Given the description of an element on the screen output the (x, y) to click on. 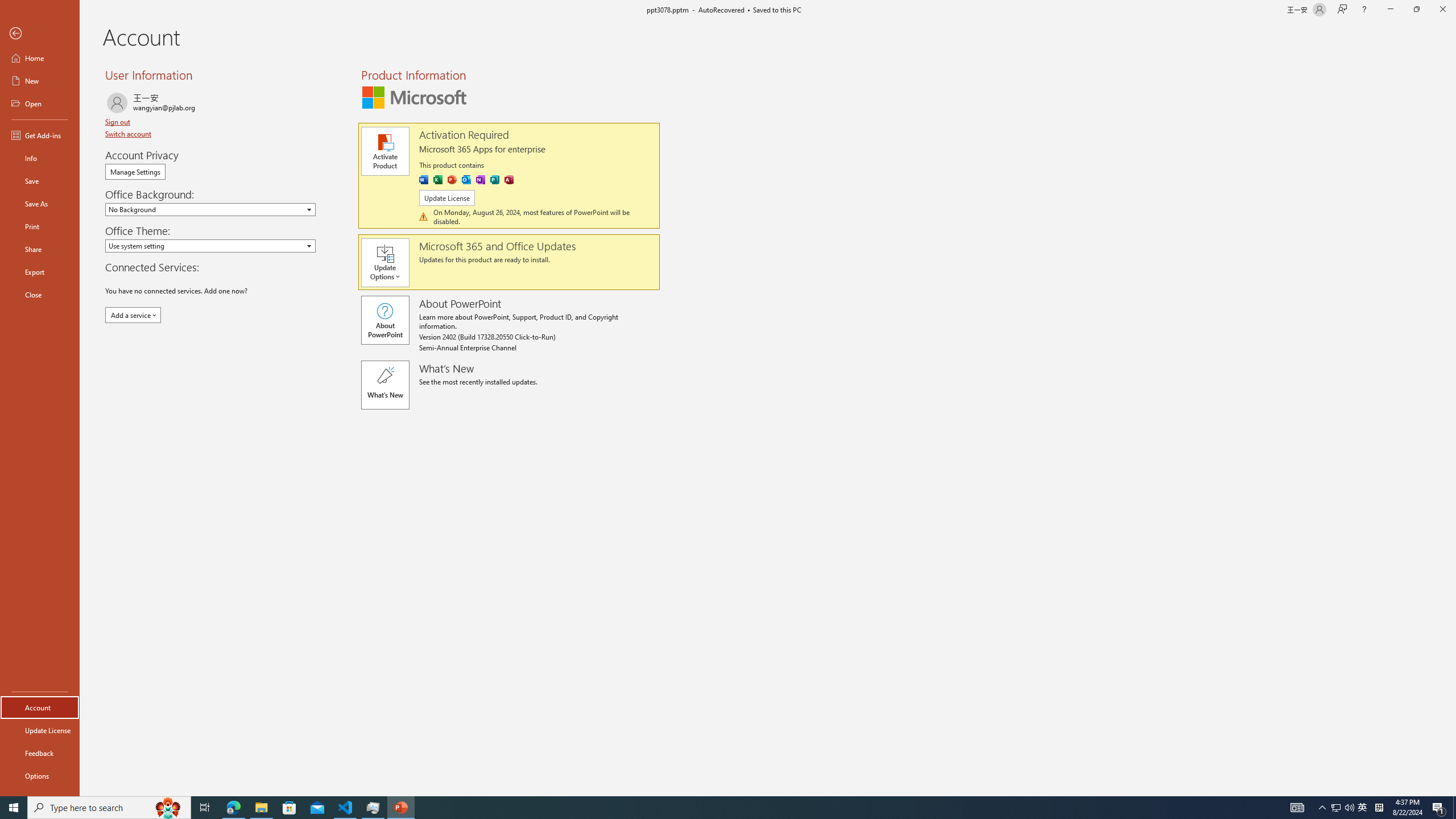
AutomationID: QuickStylesGallery (841, 91)
Line and Paragraph Spacing (527, 102)
Font Color Red (317, 102)
Change Case (297, 77)
Undo Font Formatting (159, 18)
